Given the description of an element on the screen output the (x, y) to click on. 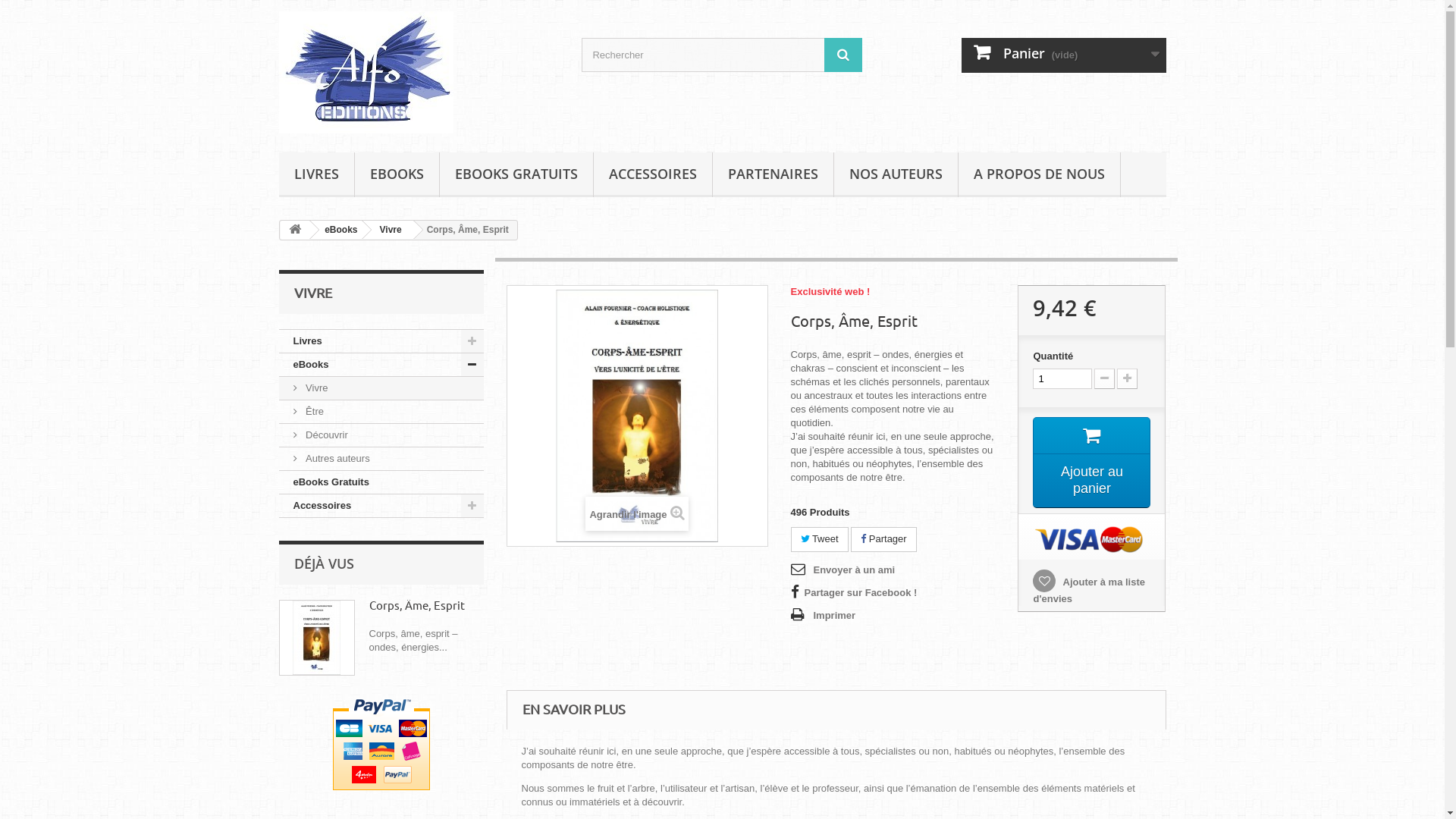
Livres Element type: text (381, 341)
Partager Element type: text (883, 539)
Partager sur Facebook ! Element type: text (853, 592)
Accessoires Element type: text (381, 505)
Payer par PayPal Element type: hover (380, 744)
eBooks Gratuits Element type: text (381, 482)
EBOOKS GRATUITS Element type: text (516, 174)
PARTENAIRES Element type: text (772, 174)
Panier (vide) Element type: text (1063, 54)
Ajouter au panier Element type: text (1091, 462)
Vivre Element type: text (388, 229)
Tweet Element type: text (818, 539)
eBooks Element type: text (381, 364)
NOS AUTEURS Element type: text (895, 174)
Alfo Editions Element type: hover (419, 72)
ACCESSOIRES Element type: text (652, 174)
A PROPOS DE NOUS Element type: text (1039, 174)
Imprimer Element type: text (822, 615)
Vivre Element type: text (381, 388)
Autres auteurs Element type: text (381, 458)
LIVRES Element type: text (316, 174)
eBooks Element type: text (337, 229)
EBOOKS Element type: text (396, 174)
